Given the description of an element on the screen output the (x, y) to click on. 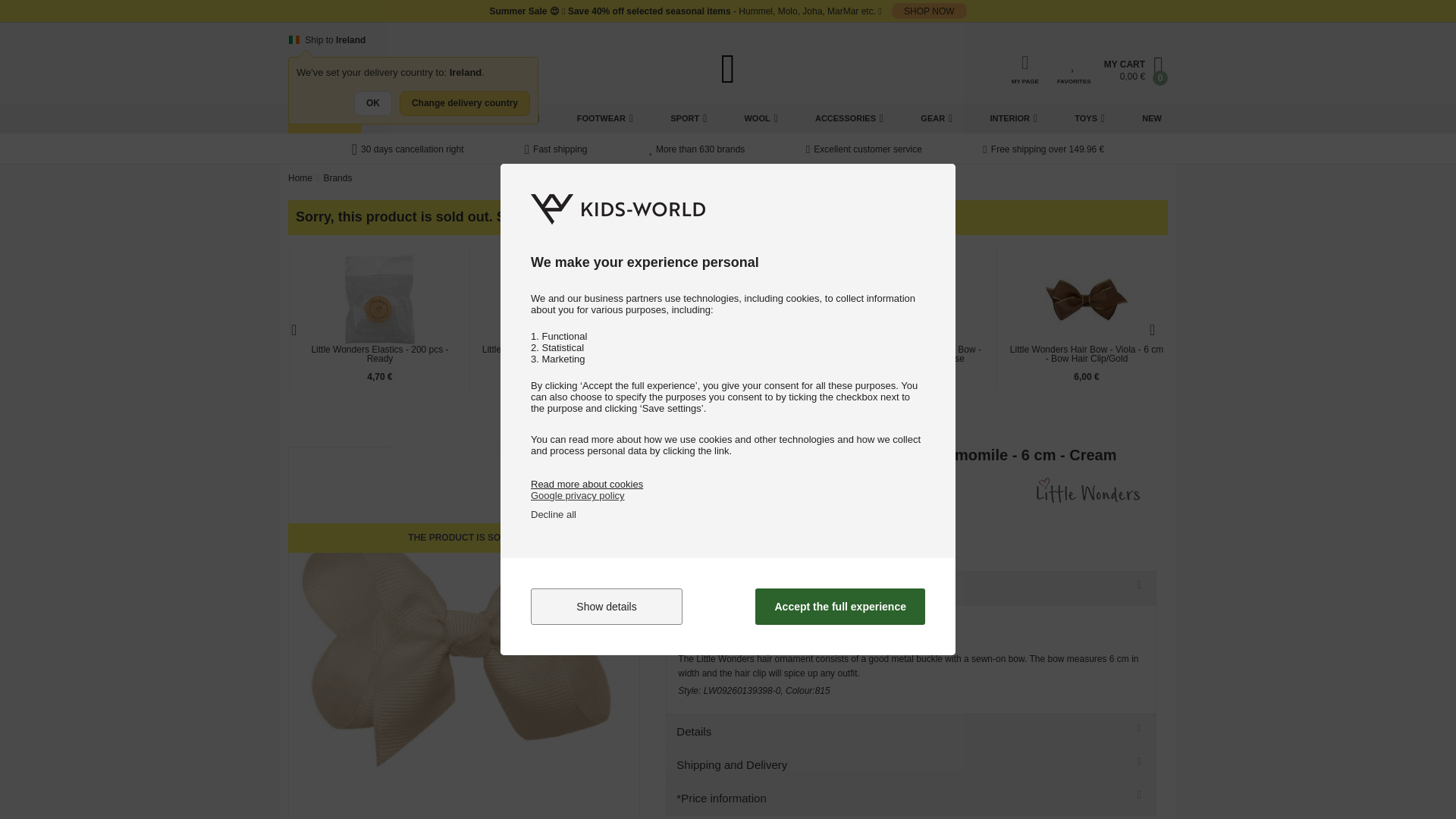
Show details (606, 606)
Accept the full experience (839, 606)
Read more about cookies (587, 483)
Decline all (553, 514)
Google privacy policy (577, 495)
